Given the description of an element on the screen output the (x, y) to click on. 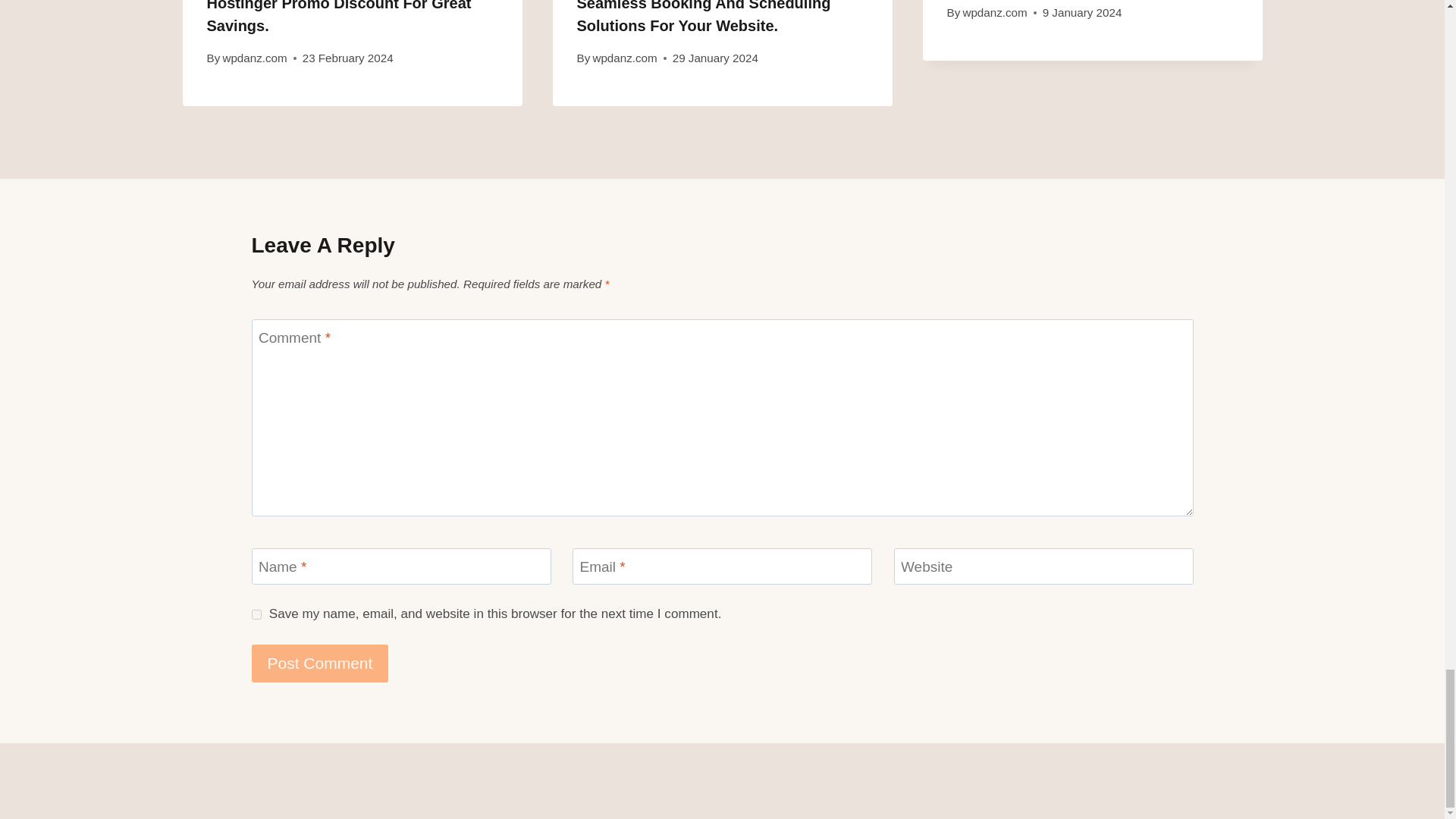
yes (256, 614)
Post Comment (319, 663)
